Given the description of an element on the screen output the (x, y) to click on. 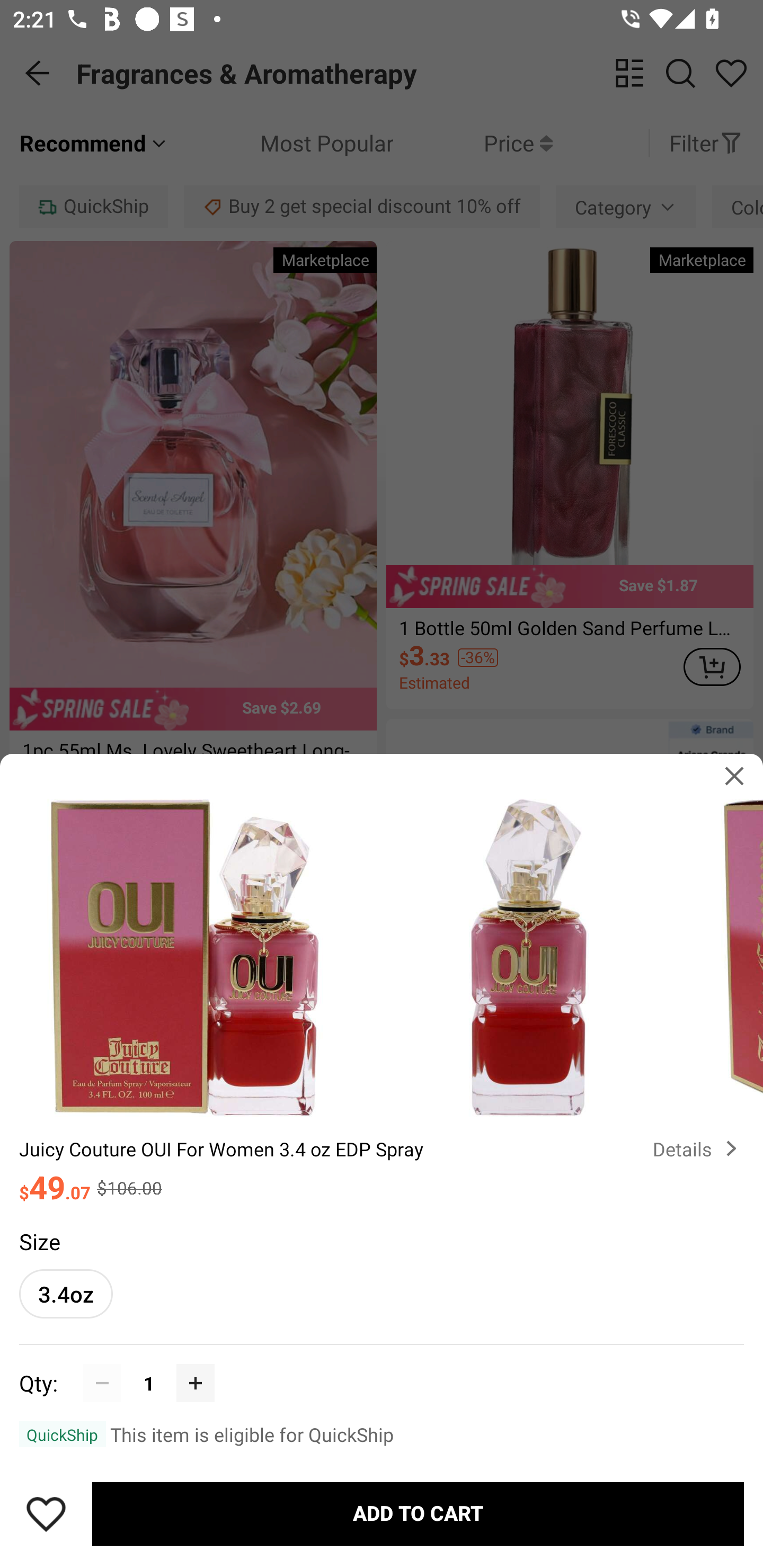
Details (698, 1148)
Size (39, 1240)
3.4oz 3.4ozunselected option (65, 1293)
ADD TO CART (417, 1513)
Save (46, 1513)
